Given the description of an element on the screen output the (x, y) to click on. 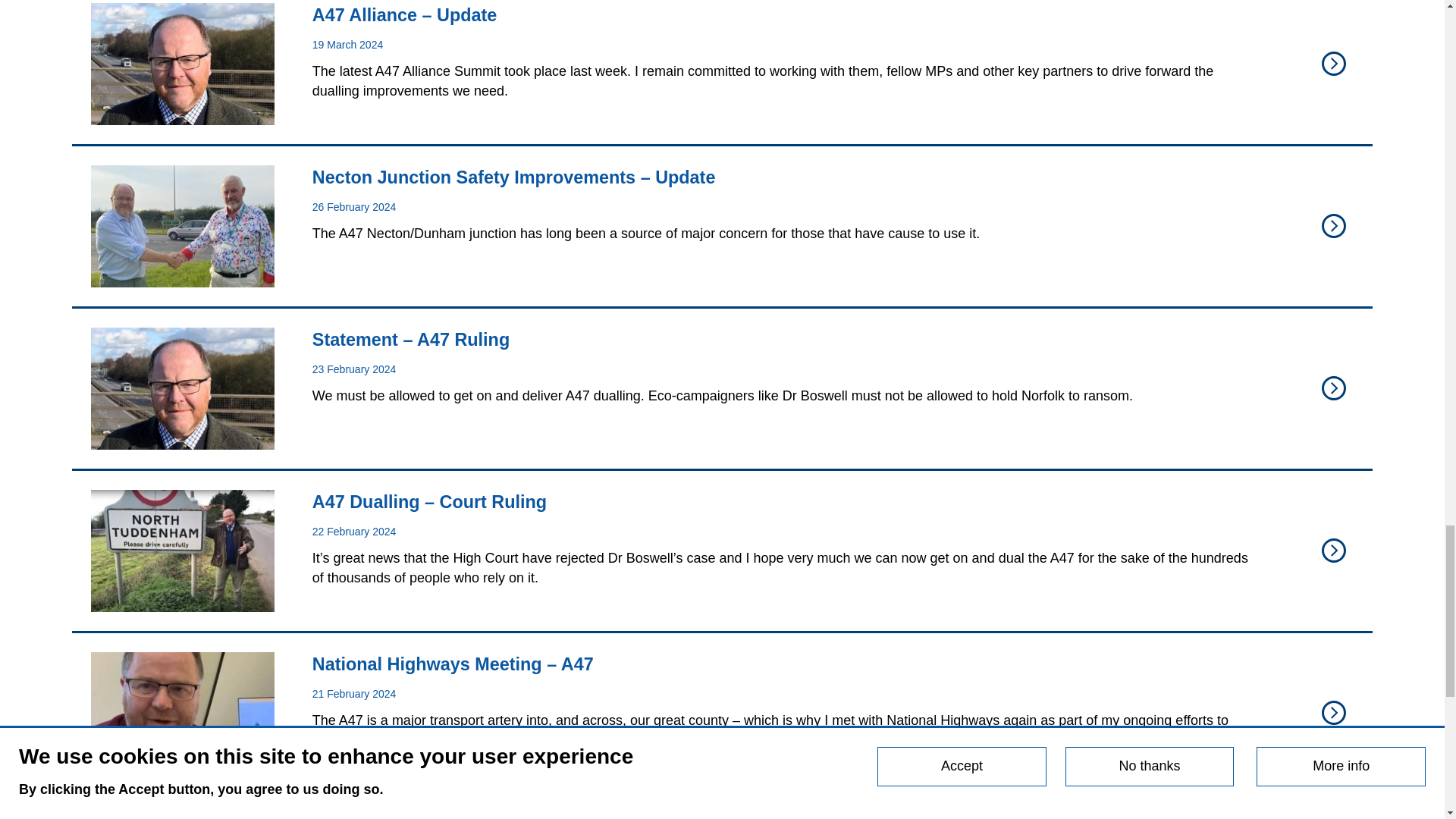
Go to page 4 (681, 816)
Go to page 5 (706, 816)
Go to page 9 (805, 816)
Go to page 8 (780, 816)
Go to page 2 (630, 816)
Go to page 6 (730, 816)
Current page (605, 816)
Go to page 7 (755, 816)
Go to page 3 (655, 816)
